Given the description of an element on the screen output the (x, y) to click on. 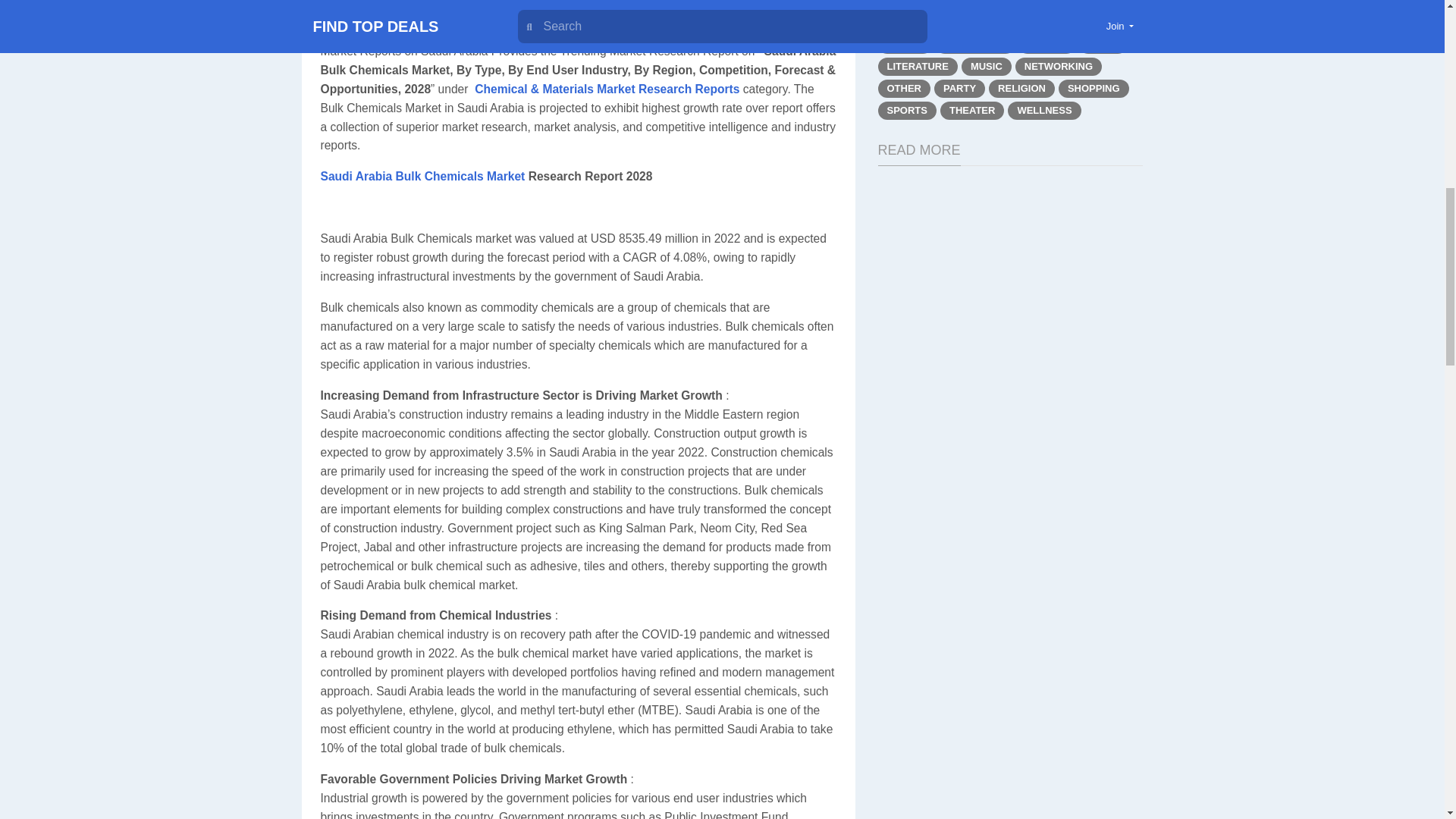
ART (897, 4)
CRAFTS (1011, 4)
Saudi Arabia Bulk Chemicals Market (422, 175)
CAUSES (949, 4)
